Given the description of an element on the screen output the (x, y) to click on. 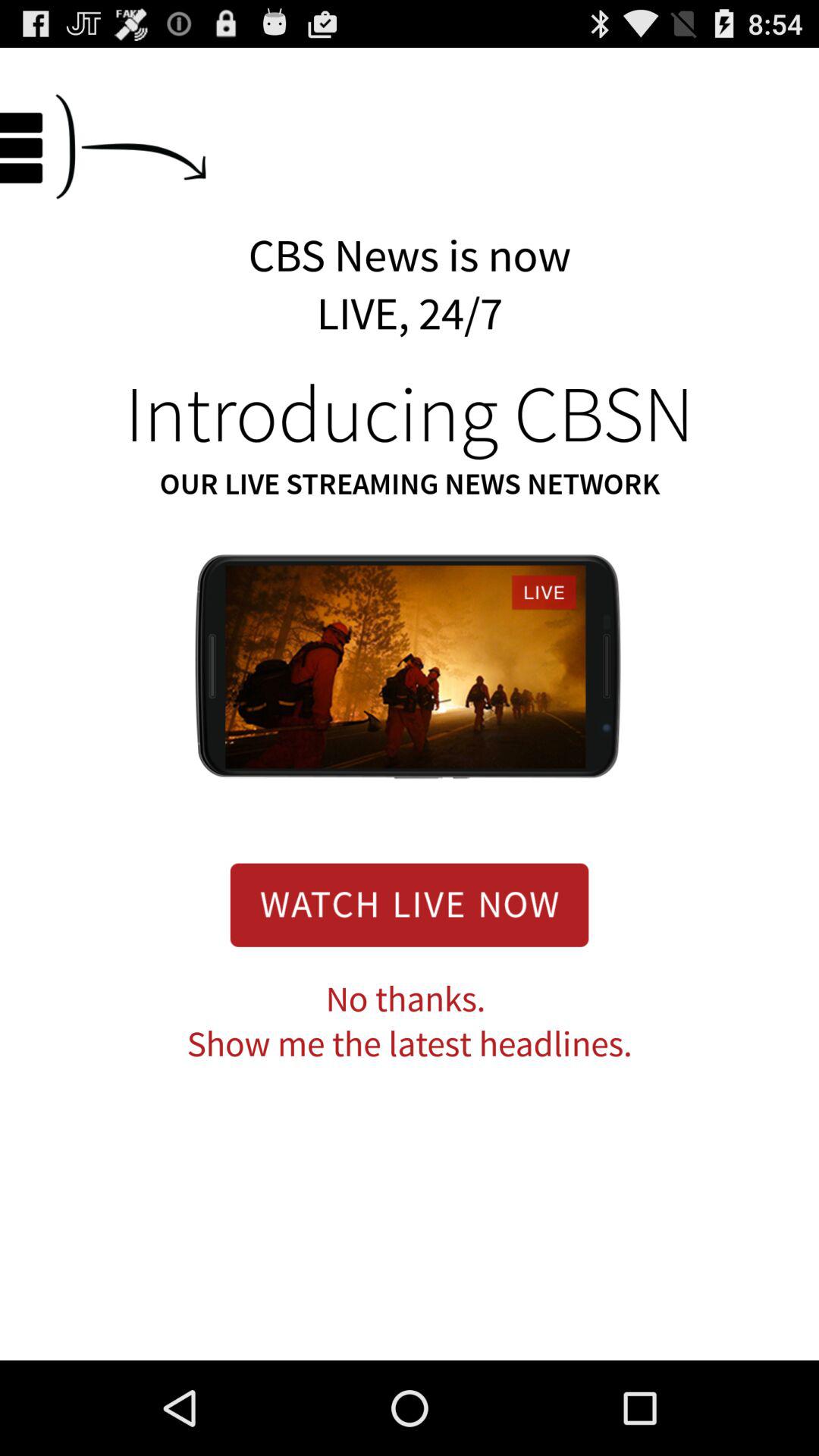
choose no thanks show item (409, 1022)
